Given the description of an element on the screen output the (x, y) to click on. 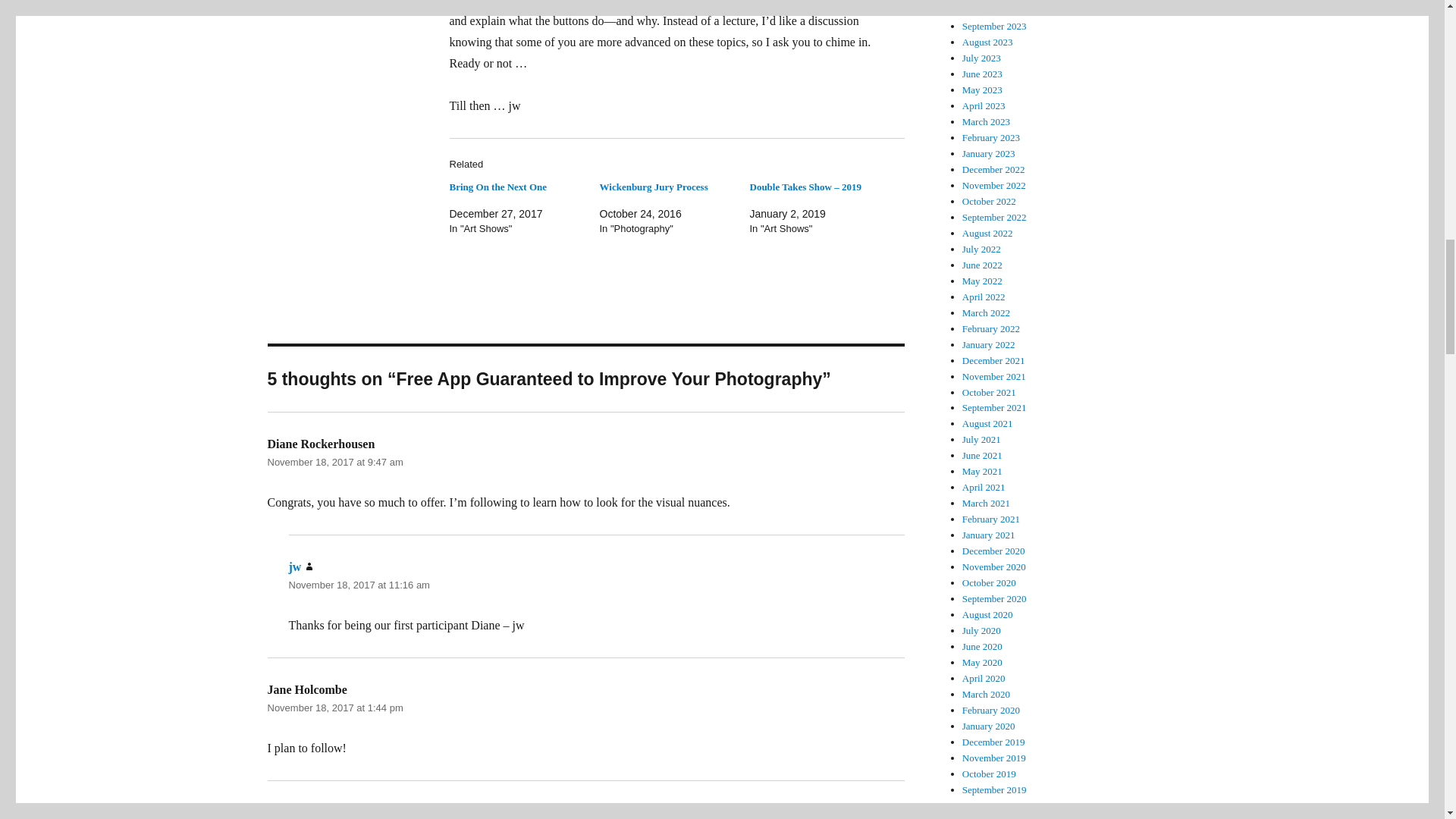
Wickenburg Jury Process (652, 186)
Bring On the Next One (497, 186)
Wickenburg Jury Process (652, 186)
Bring On the Next One (497, 186)
November 18, 2017 at 1:44 pm (334, 707)
November 18, 2017 at 11:16 am (358, 584)
November 18, 2017 at 9:47 am (334, 461)
jw (294, 566)
